Given the description of an element on the screen output the (x, y) to click on. 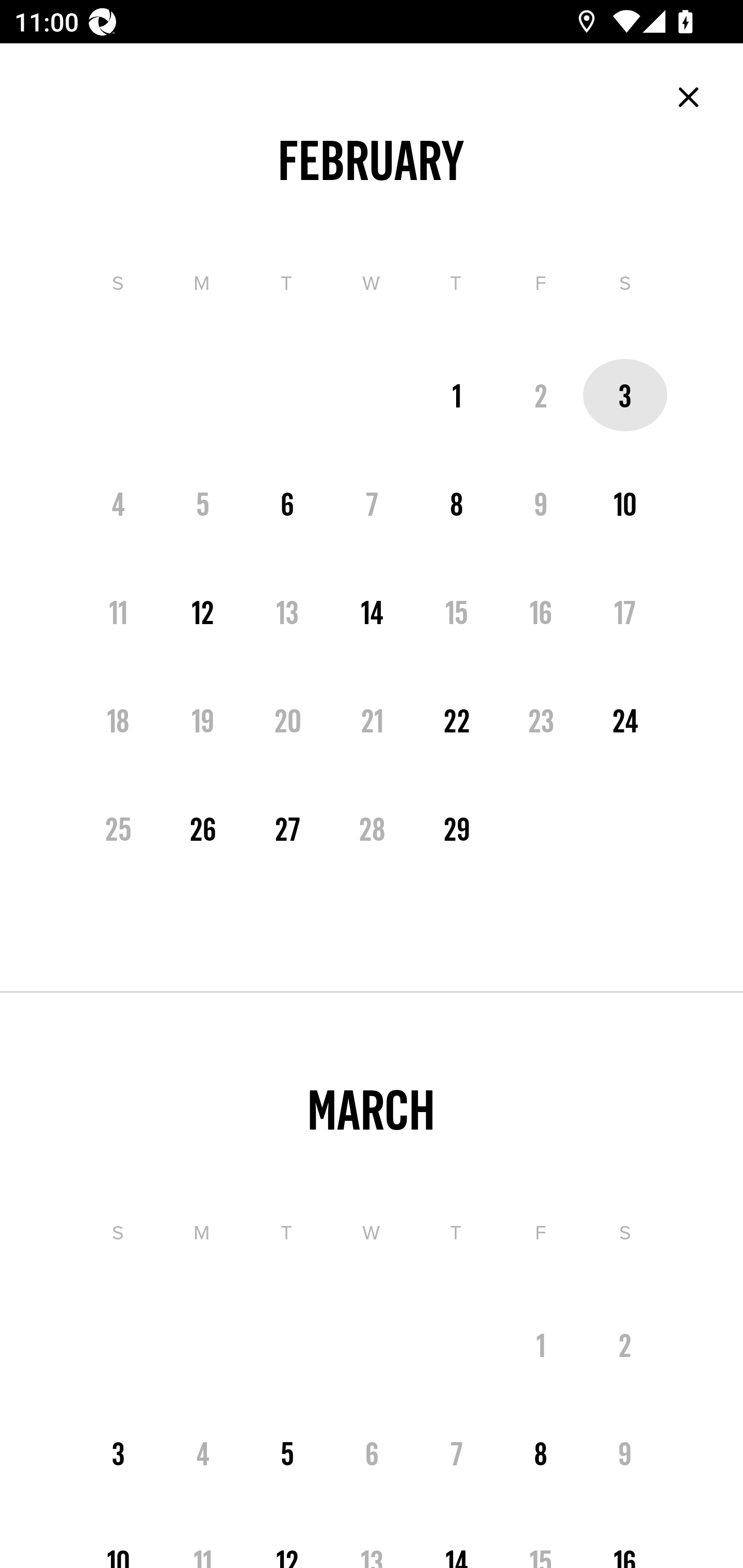
1 (456, 395)
2 (541, 395)
3 (625, 395)
4 (117, 503)
5 (202, 503)
6 (287, 503)
7 (371, 503)
8 (456, 503)
9 (541, 503)
10 (625, 503)
11 (117, 611)
12 (202, 611)
13 (287, 611)
14 (371, 611)
15 (456, 611)
16 (541, 611)
17 (625, 611)
18 (117, 719)
19 (202, 719)
20 (287, 719)
21 (371, 719)
22 (456, 719)
23 (541, 719)
24 (625, 719)
25 (117, 827)
26 (202, 827)
27 (287, 827)
28 (371, 827)
29 (456, 827)
1 (541, 1345)
2 (625, 1345)
3 (117, 1453)
4 (202, 1453)
5 (287, 1453)
6 (371, 1453)
7 (456, 1453)
8 (541, 1453)
9 (625, 1453)
10 (117, 1546)
11 (202, 1546)
12 (287, 1546)
13 (371, 1546)
14 (456, 1546)
15 (541, 1546)
16 (625, 1546)
